Given the description of an element on the screen output the (x, y) to click on. 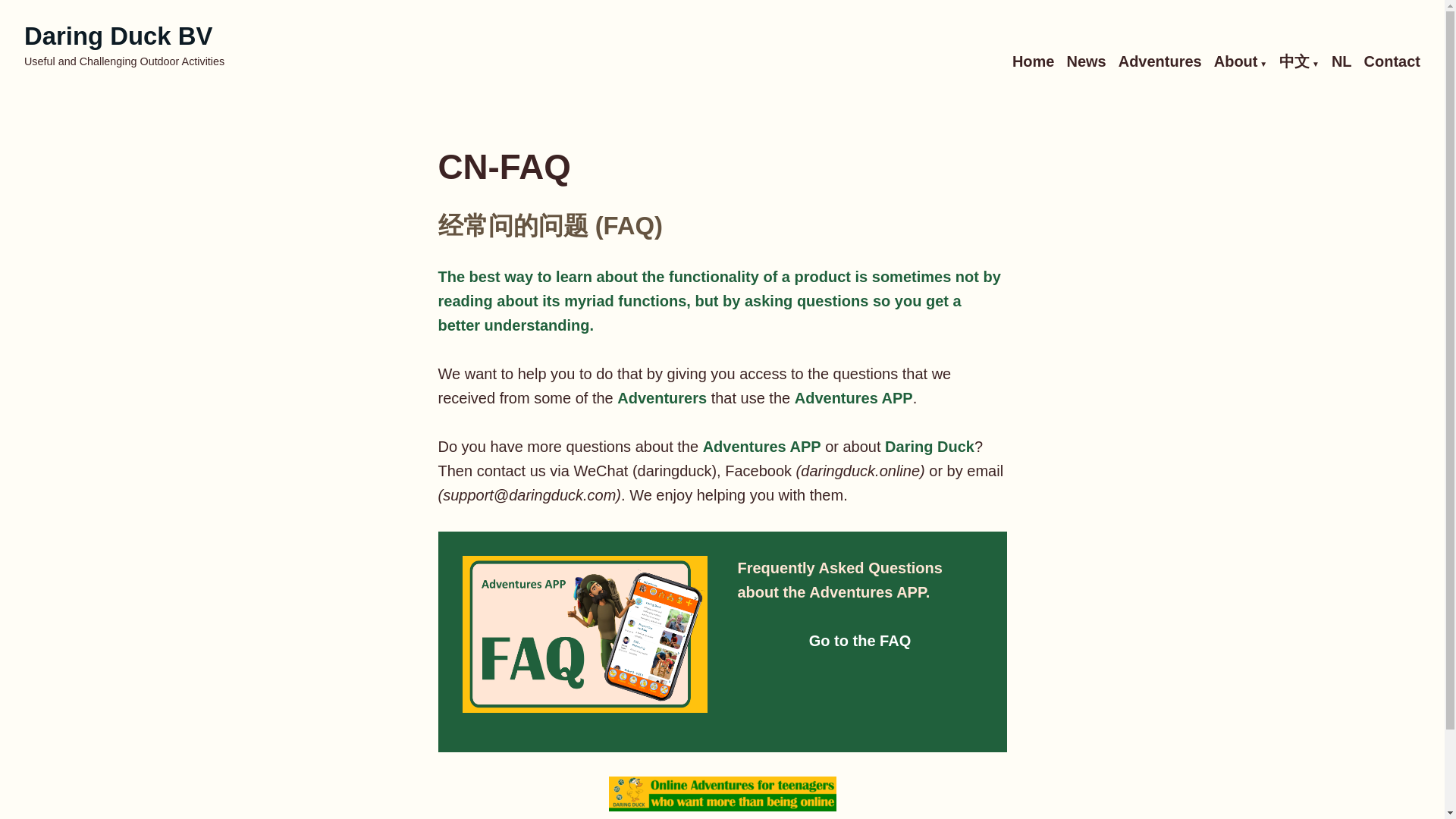
Home (1032, 61)
News (1085, 61)
Go to the FAQ (860, 640)
About (1240, 61)
Daring Duck BV (118, 35)
Contact (1392, 61)
Adventures (1160, 61)
NL (1342, 61)
